Given the description of an element on the screen output the (x, y) to click on. 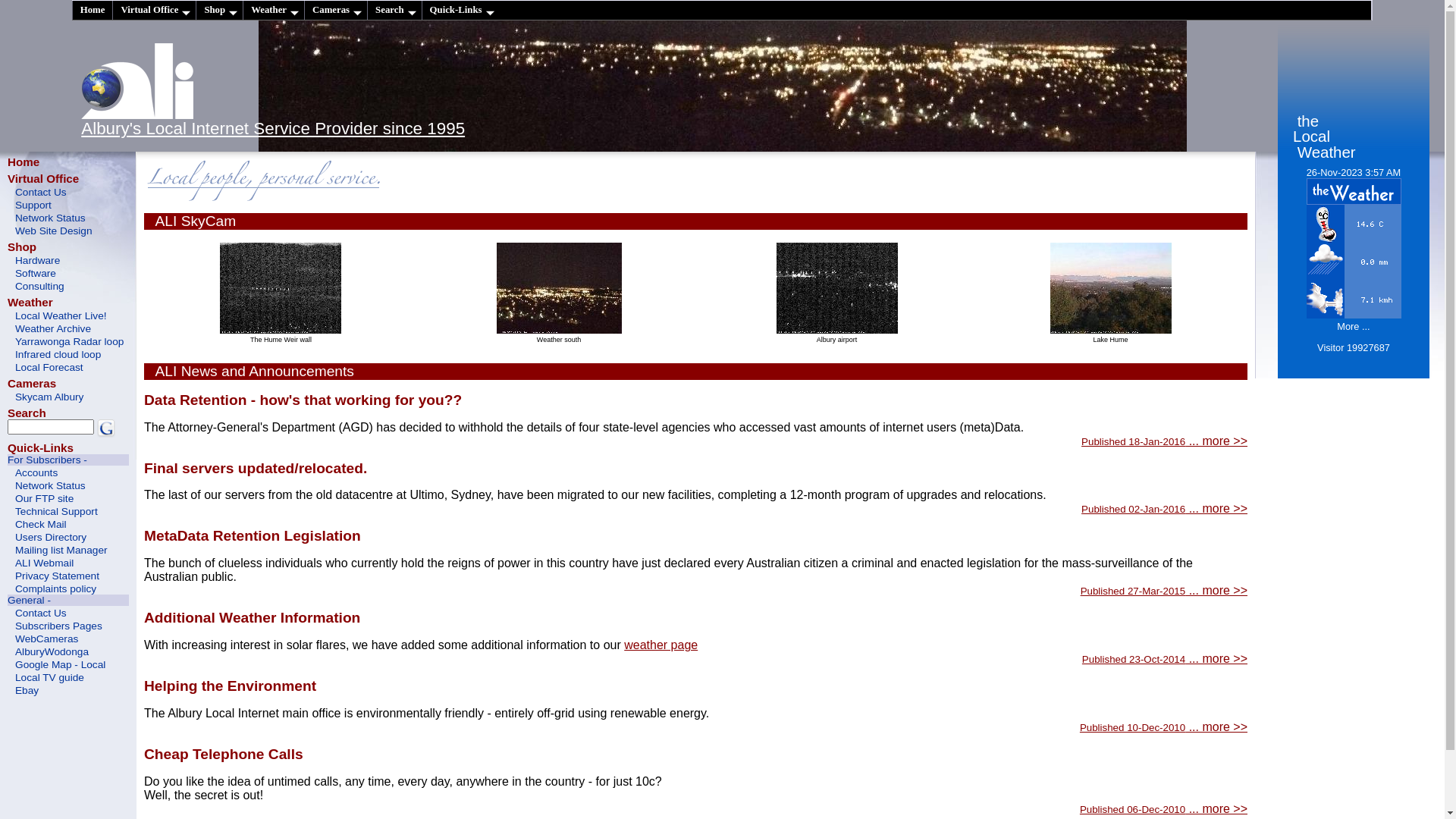
Yarrawonga Radar loop Element type: text (67, 340)
Published 06-Dec-2010 ... more >> Element type: text (1163, 808)
Cameras Element type: text (31, 382)
Weather Element type: text (30, 301)
Web Site Design Element type: text (67, 229)
Mailing list Manager Element type: text (67, 548)
Contact Us Element type: text (67, 191)
Published 18-Jan-2016 ... more >> Element type: text (1164, 440)
Quick-Links Element type: text (40, 447)
Local Weather Live! Element type: text (67, 314)
Network Status Element type: text (67, 216)
Home Element type: text (92, 9)
Google Map - Local Element type: text (67, 663)
Accounts Element type: text (67, 471)
Published 10-Dec-2010 ... more >> Element type: text (1163, 726)
Home Element type: text (23, 161)
Weather Element type: text (273, 9)
Complaints policy Element type: text (67, 587)
Virtual Office Element type: text (42, 178)
Shop Element type: text (218, 9)
26-Nov-2023 3:57 AM

More ...
Visitor 19927687 Element type: text (1353, 264)
Ebay Element type: text (67, 689)
Network Status Element type: text (67, 484)
Search Element type: text (393, 9)
Technical Support Element type: text (67, 510)
Subscribers Pages Element type: text (67, 624)
Our FTP site Element type: text (67, 497)
Weather Archive Element type: text (67, 327)
Shop Element type: text (21, 246)
Consulting Element type: text (67, 285)
WebCameras Element type: text (67, 637)
Support Element type: text (67, 203)
Published 02-Jan-2016 ... more >> Element type: text (1164, 508)
Users Directory Element type: text (67, 536)
Virtual Office Element type: text (153, 9)
Search Element type: text (26, 412)
Published 27-Mar-2015 ... more >> Element type: text (1163, 589)
Software Element type: text (67, 272)
AlburyWodonga Element type: text (67, 650)
ALI Webmail Element type: text (67, 561)
Contact Us Element type: text (67, 611)
Albury's Local Internet Service Provider since 1995 Element type: text (272, 128)
Privacy Statement Element type: text (67, 574)
Published 23-Oct-2014 ... more >> Element type: text (1164, 658)
Infrared cloud loop Element type: text (67, 353)
Check Mail Element type: text (67, 523)
Local TV guide Element type: text (67, 676)
Local Forecast Element type: text (67, 366)
Skycam Albury Element type: text (67, 395)
Quick-Links Element type: text (460, 9)
weather page Element type: text (660, 644)
Cameras Element type: text (335, 9)
Hardware Element type: text (67, 259)
